Given the description of an element on the screen output the (x, y) to click on. 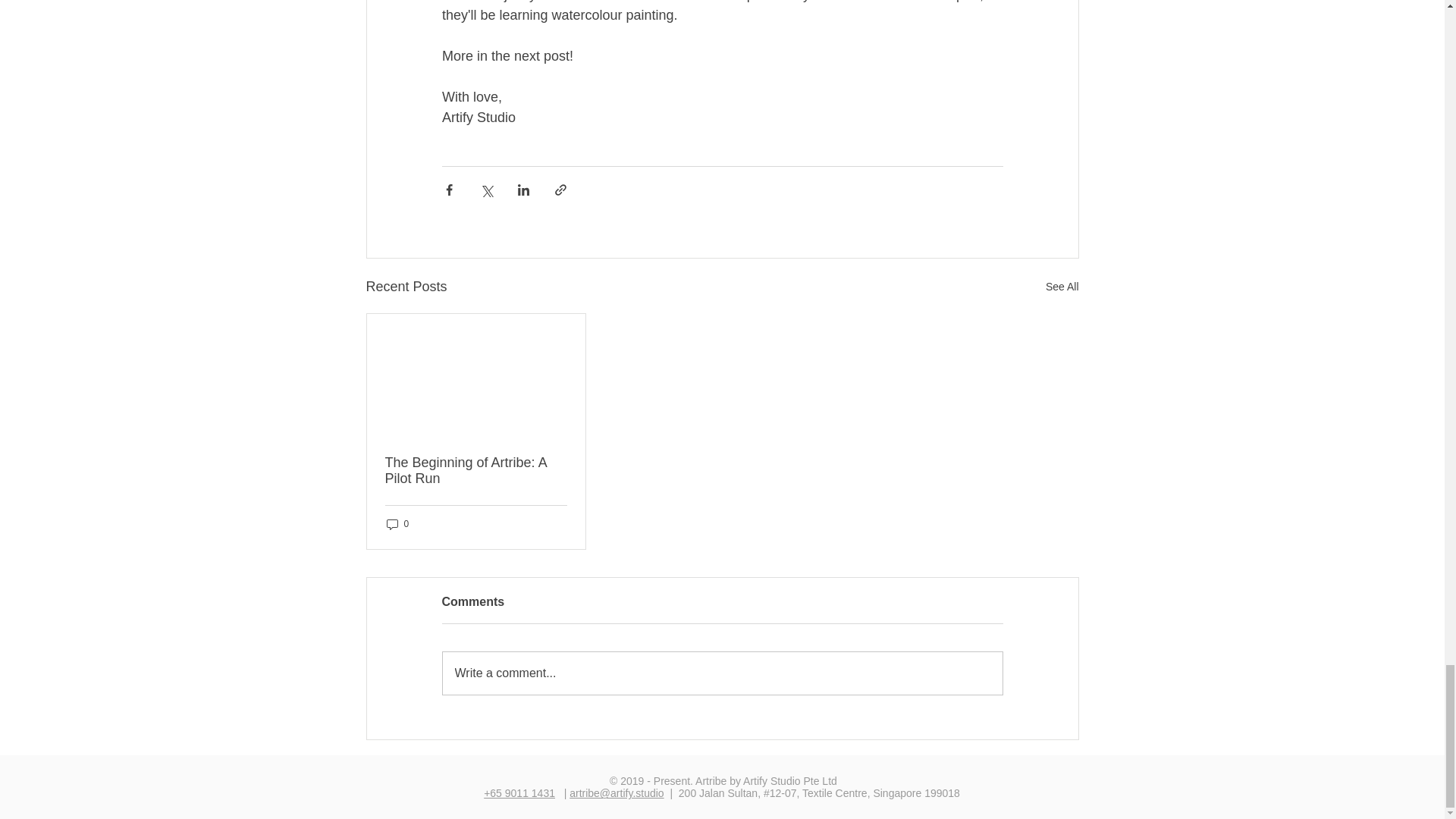
Write a comment... (722, 672)
0 (397, 523)
See All (1061, 287)
The Beginning of Artribe: A Pilot Run (476, 470)
